Given the description of an element on the screen output the (x, y) to click on. 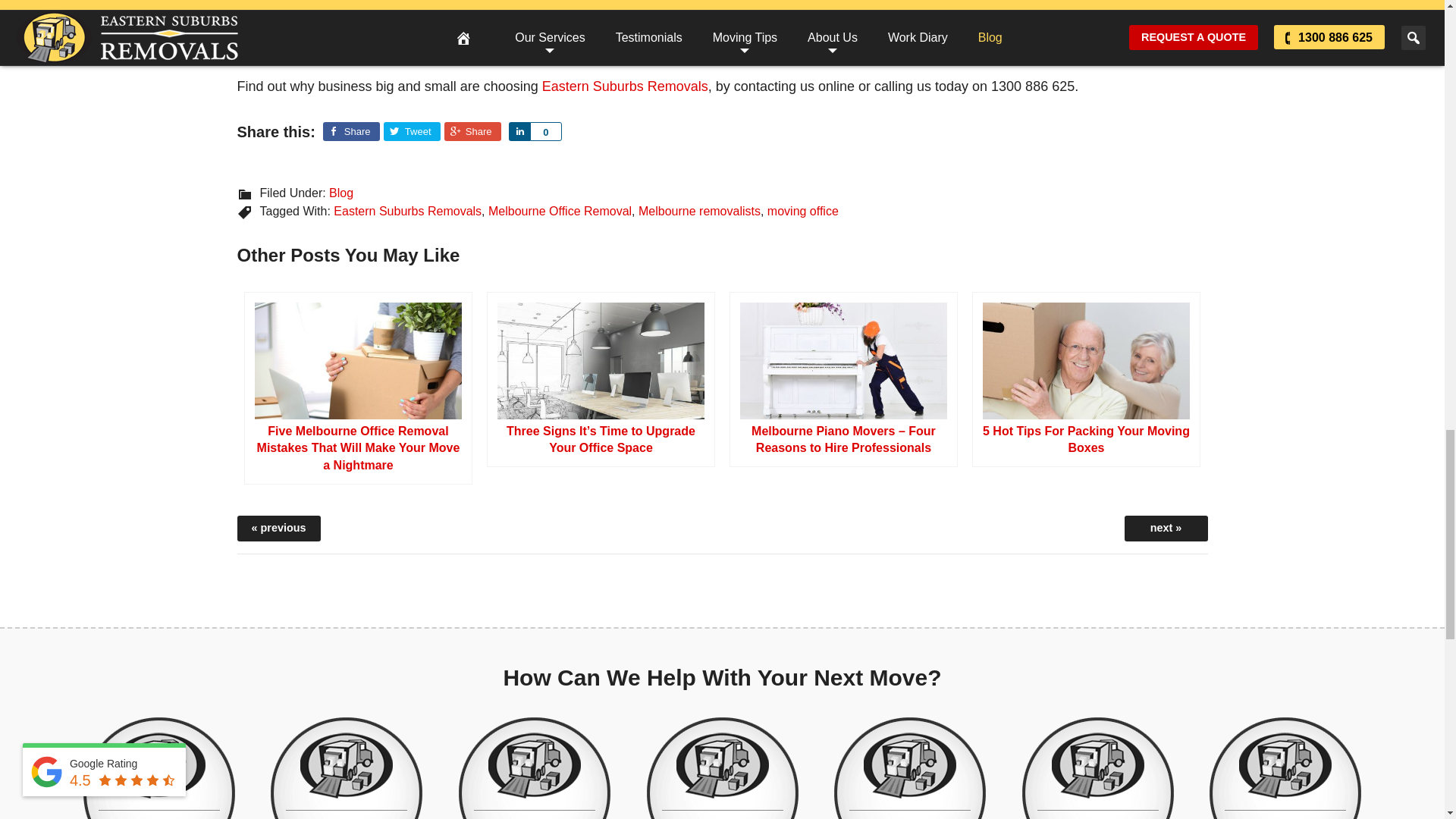
Share (472, 131)
Eastern Suburbs Removals (624, 86)
This Is How To Choose the Right Moving Box (277, 527)
Packing for Long-Term and Short-Term Storage (1165, 527)
Interstate Removals (346, 768)
Tweet (412, 131)
Declutter Your Home (1097, 768)
Home Furniture Removals in Melbourne (158, 768)
0 (545, 131)
